Given the description of an element on the screen output the (x, y) to click on. 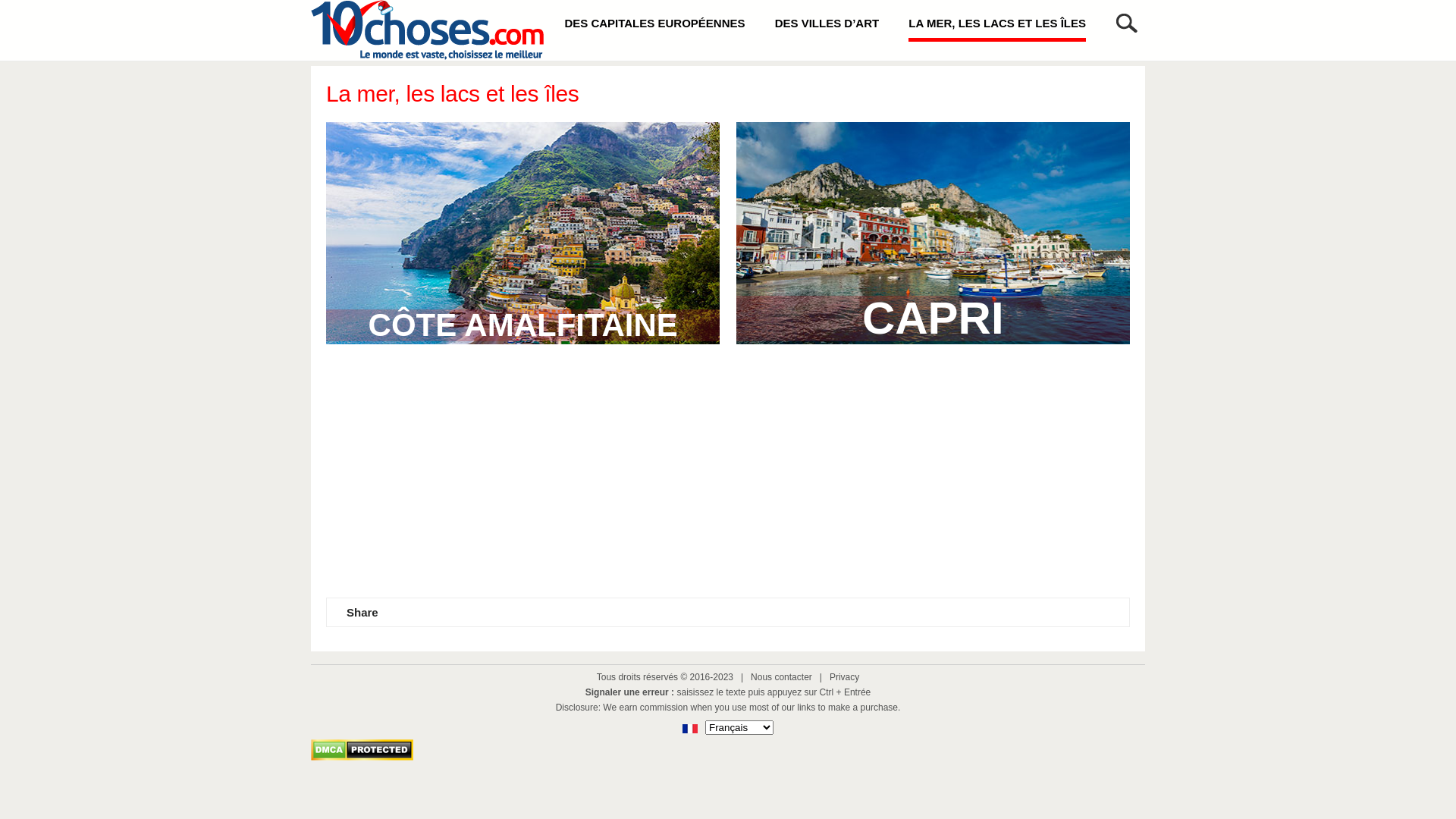
Advertisement Element type: hover (727, 479)
Nous contacter Element type: text (781, 676)
CAPRI Element type: text (932, 339)
Privacy Element type: text (844, 676)
DMCA.com Protection Status Element type: hover (361, 755)
